Given the description of an element on the screen output the (x, y) to click on. 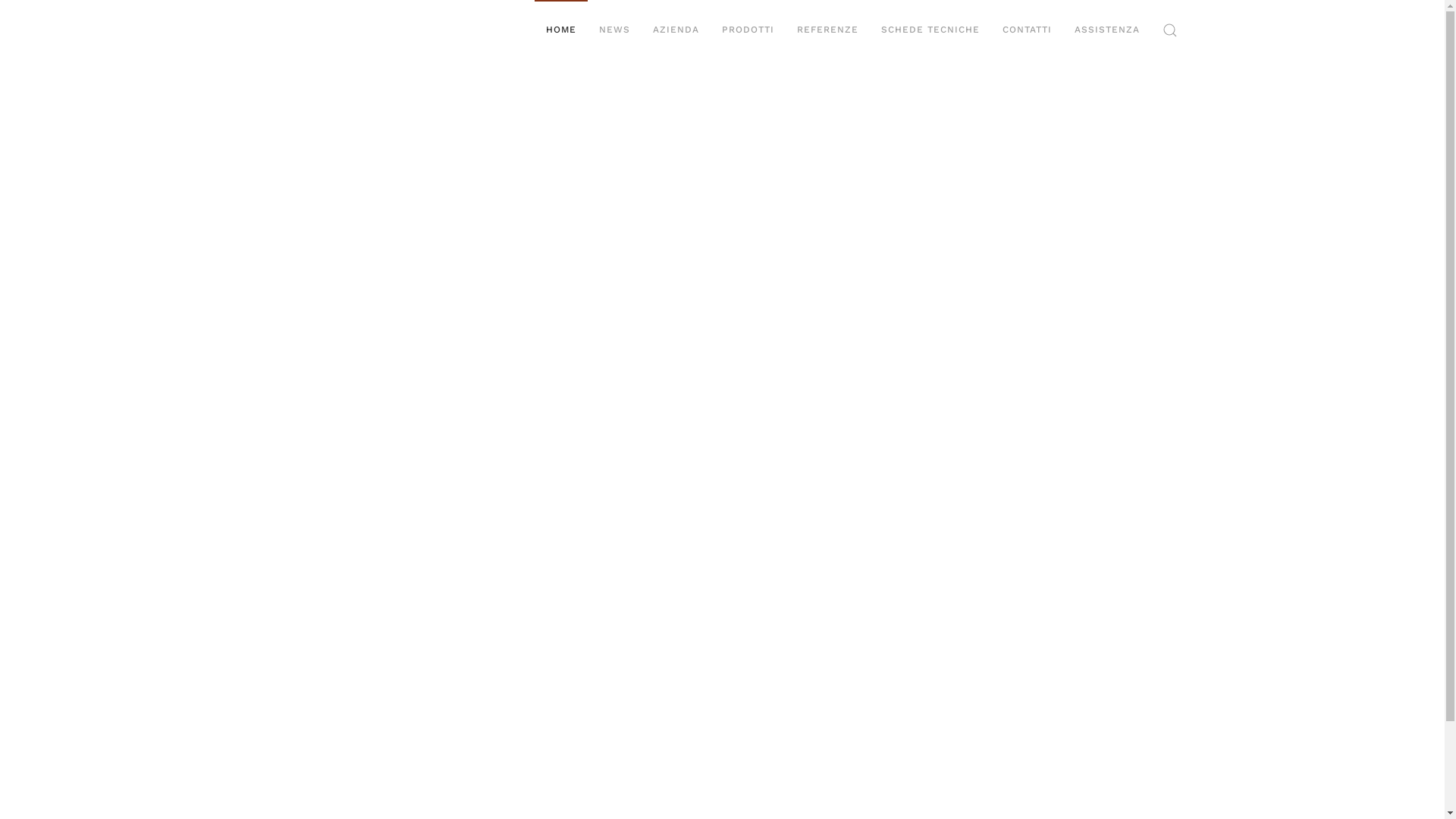
REFERENZE Element type: text (827, 30)
PRODOTTI Element type: text (746, 30)
AZIENDA Element type: text (675, 30)
SCHEDE TECNICHE Element type: text (929, 30)
CONTATTI Element type: text (1026, 30)
HOME Element type: text (559, 30)
ASSISTENZA Element type: text (1107, 30)
NEWS Element type: text (613, 30)
